Given the description of an element on the screen output the (x, y) to click on. 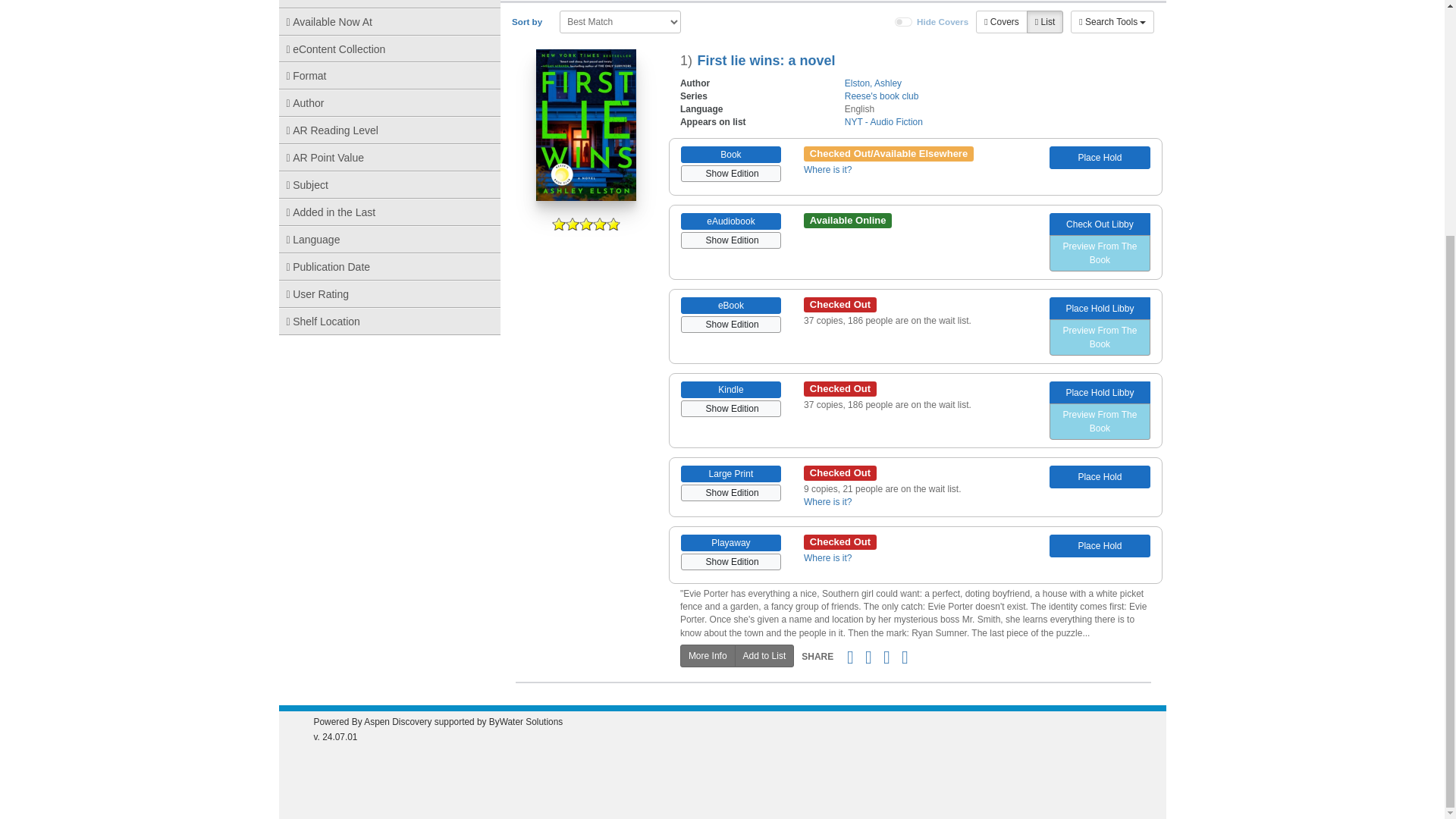
on (903, 21)
